Given the description of an element on the screen output the (x, y) to click on. 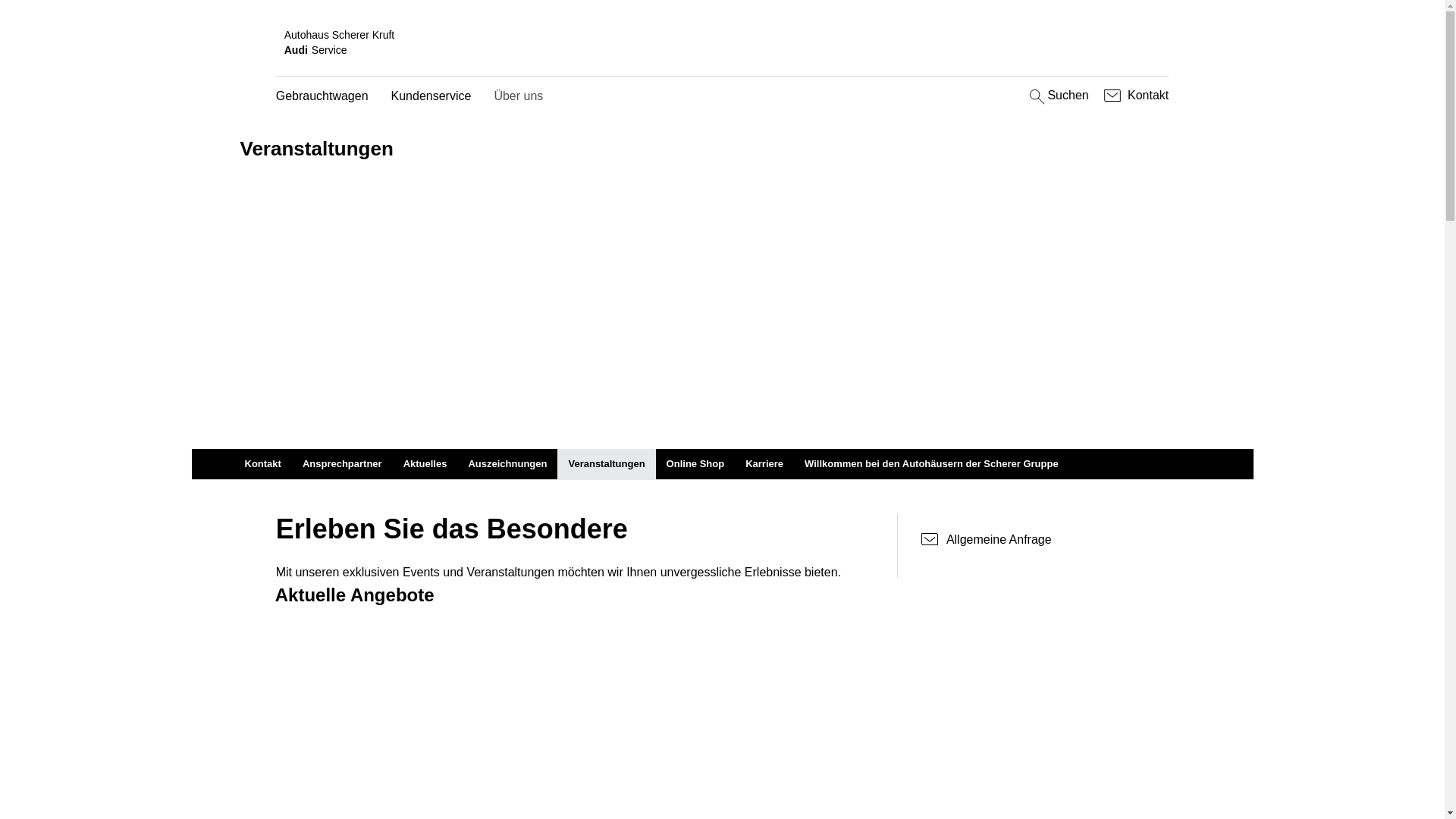
Gebrauchtwagen Element type: text (322, 96)
Kundenservice Element type: text (431, 96)
Online Shop Element type: text (695, 463)
Aktuelles Element type: text (425, 463)
Autohaus Scherer Kruft
AudiService Element type: text (722, 42)
Auszeichnungen Element type: text (507, 463)
Suchen Element type: text (1056, 95)
Allgemeine Anfrage Element type: text (1044, 539)
Karriere Element type: text (763, 463)
Veranstaltungen Element type: text (606, 463)
Ansprechpartner Element type: text (341, 463)
Kontakt Element type: text (262, 463)
Kontakt Element type: text (1134, 95)
